Given the description of an element on the screen output the (x, y) to click on. 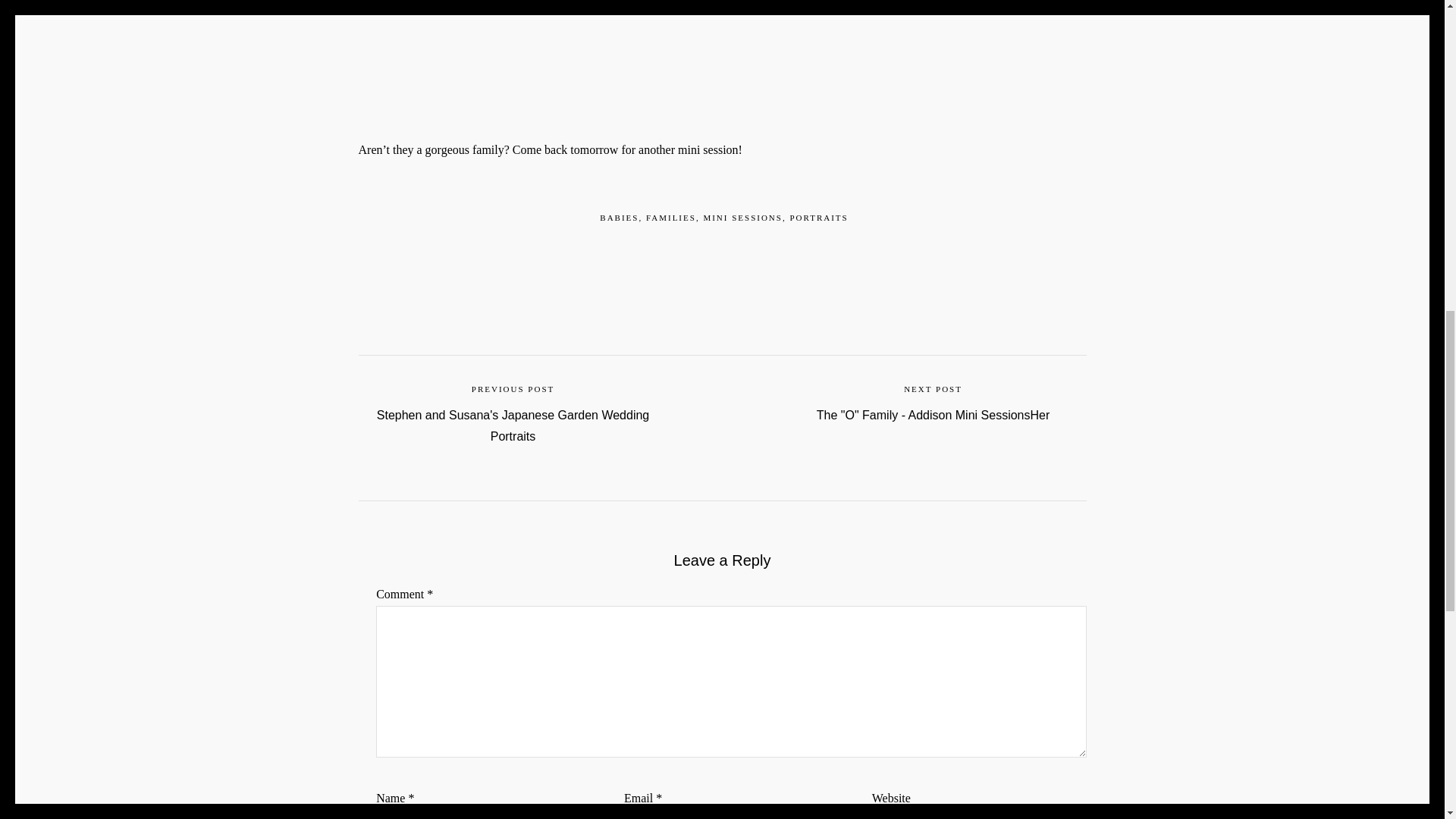
FAMILIES (670, 216)
PORTRAITS (818, 216)
BABIES (619, 216)
MINI SESSIONS (743, 216)
